Given the description of an element on the screen output the (x, y) to click on. 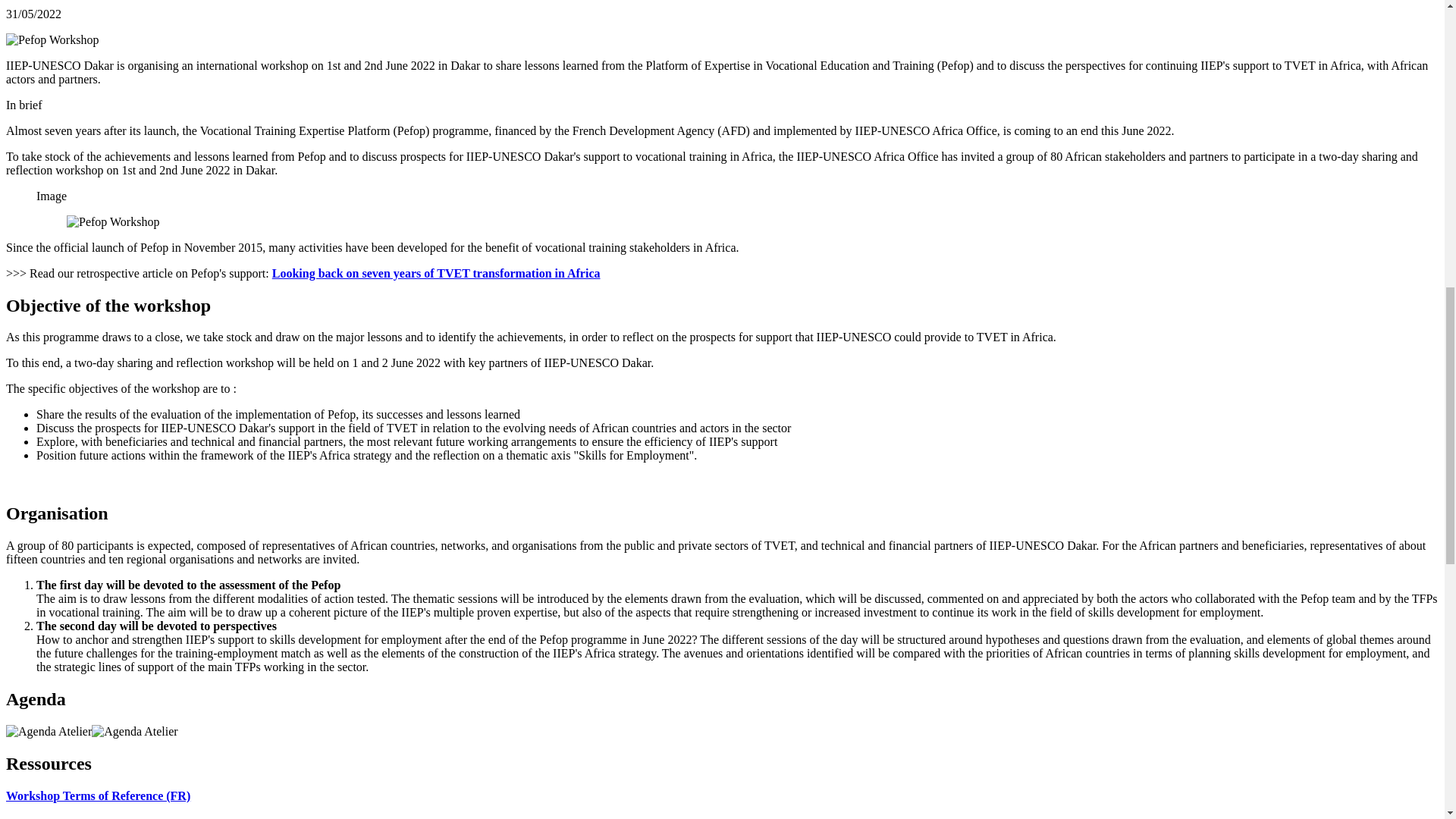
TDR Atelier Pefop (97, 795)
